Given the description of an element on the screen output the (x, y) to click on. 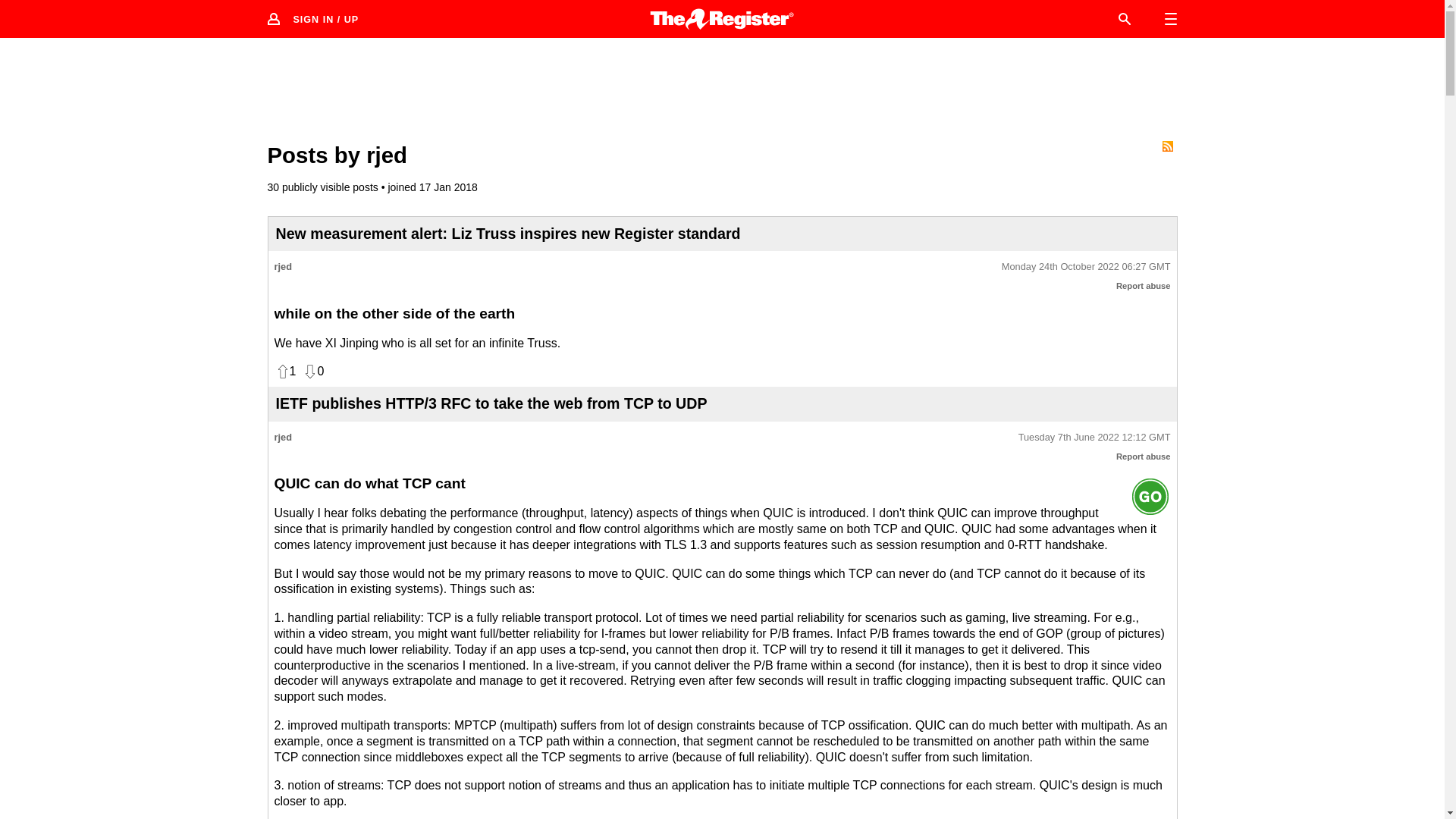
Proceed with this nonsense at flank speed (1149, 495)
Inappropriate post? Report it to our moderators (1143, 285)
Permalink to this post (1093, 437)
Report abuse (1143, 456)
Like this post? Vote for it! (286, 371)
Dislike this post? Vote it down! (312, 371)
Inappropriate post? Report it to our moderators (1143, 456)
Feed of new posts by this user (1166, 145)
Permalink to this post (1085, 267)
Report abuse (1143, 285)
